Given the description of an element on the screen output the (x, y) to click on. 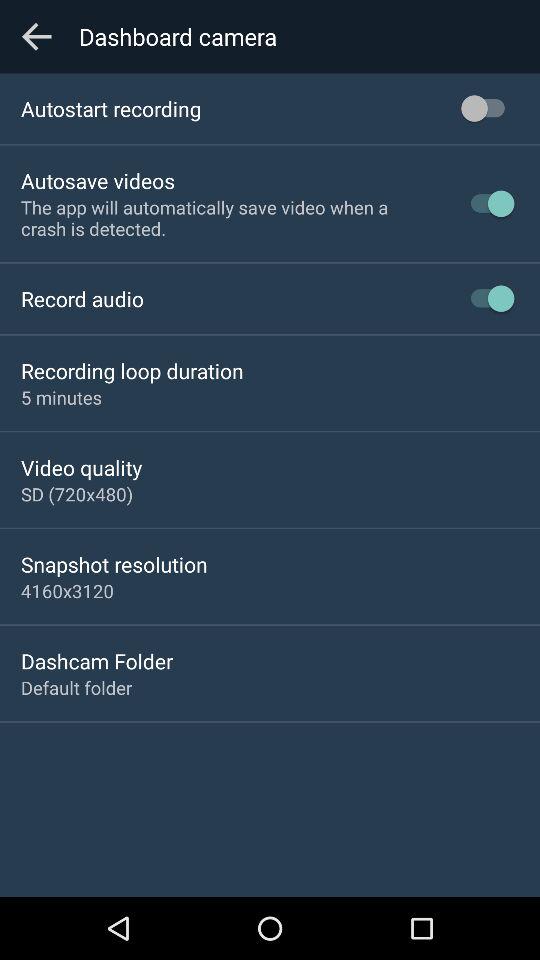
select the app will icon (228, 218)
